Given the description of an element on the screen output the (x, y) to click on. 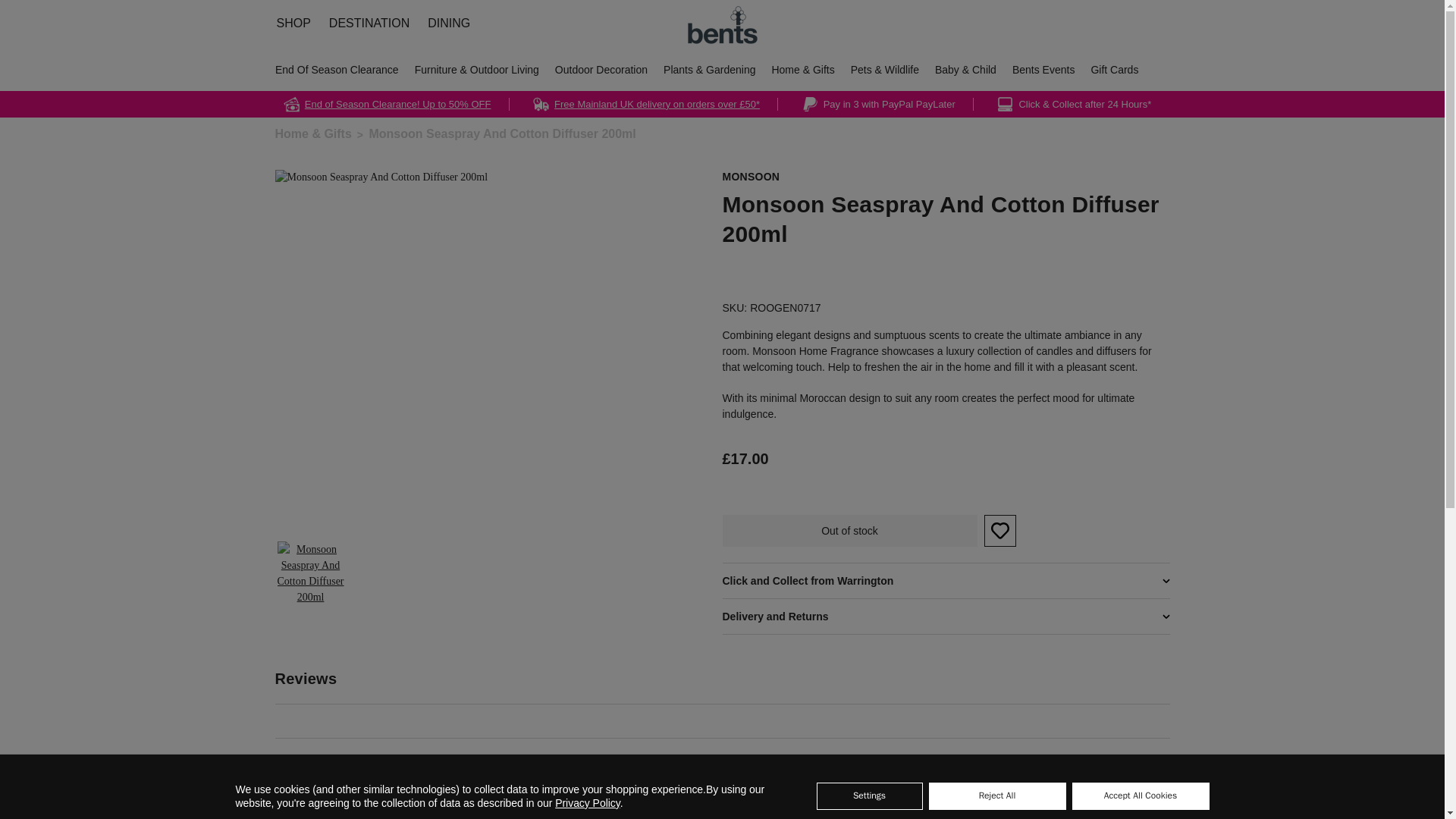
See what our customers say about us (722, 801)
End Of Season Clearance (336, 69)
SHOP (293, 23)
Outdoor Decoration (600, 69)
Monsoon Seaspray And Cotton Diffuser 200ml (456, 348)
